Given the description of an element on the screen output the (x, y) to click on. 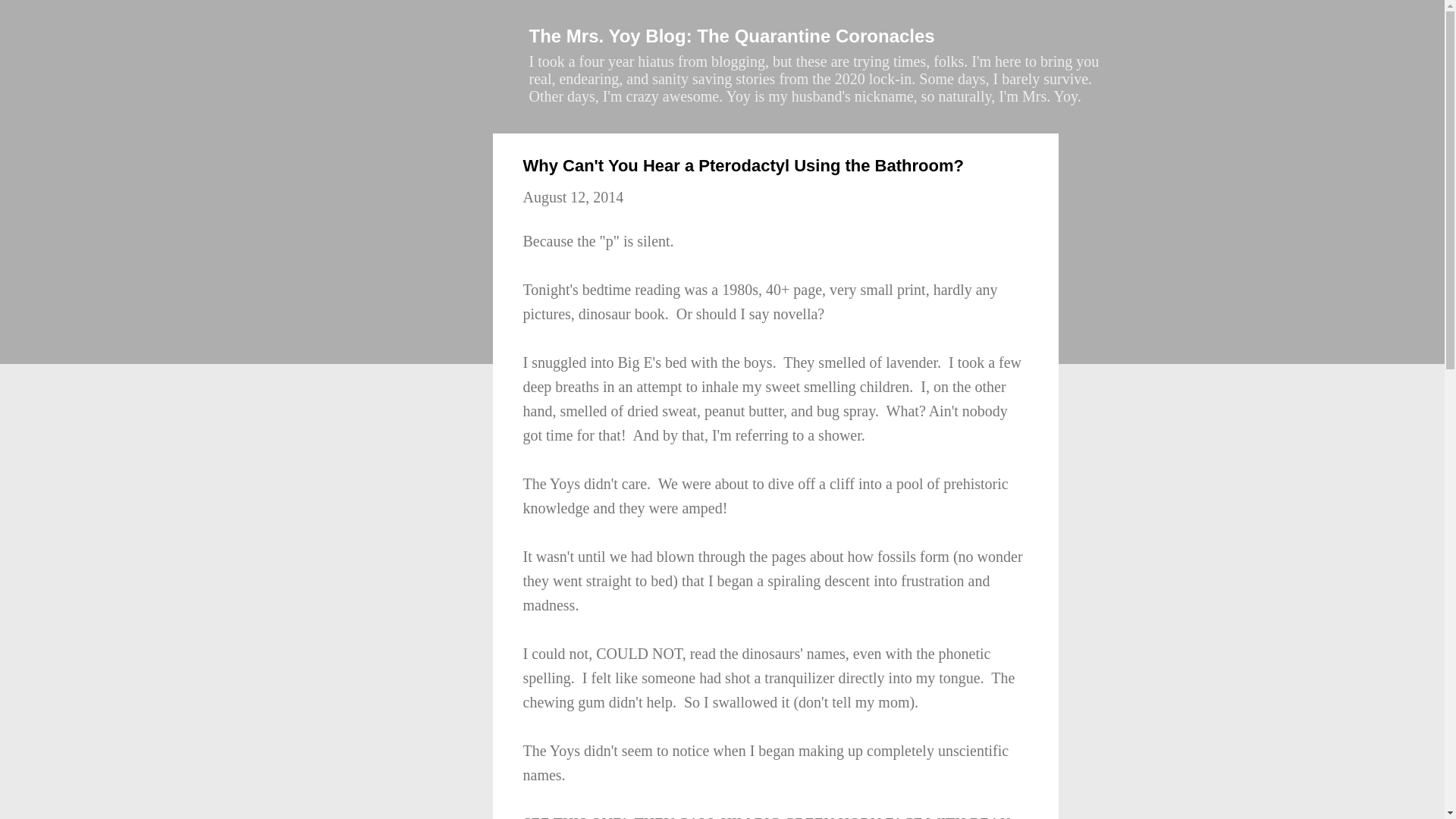
permanent link (573, 197)
Search (37, 18)
August 12, 2014 (573, 197)
The Mrs. Yoy Blog: The Quarantine Coronacles (731, 35)
